Given the description of an element on the screen output the (x, y) to click on. 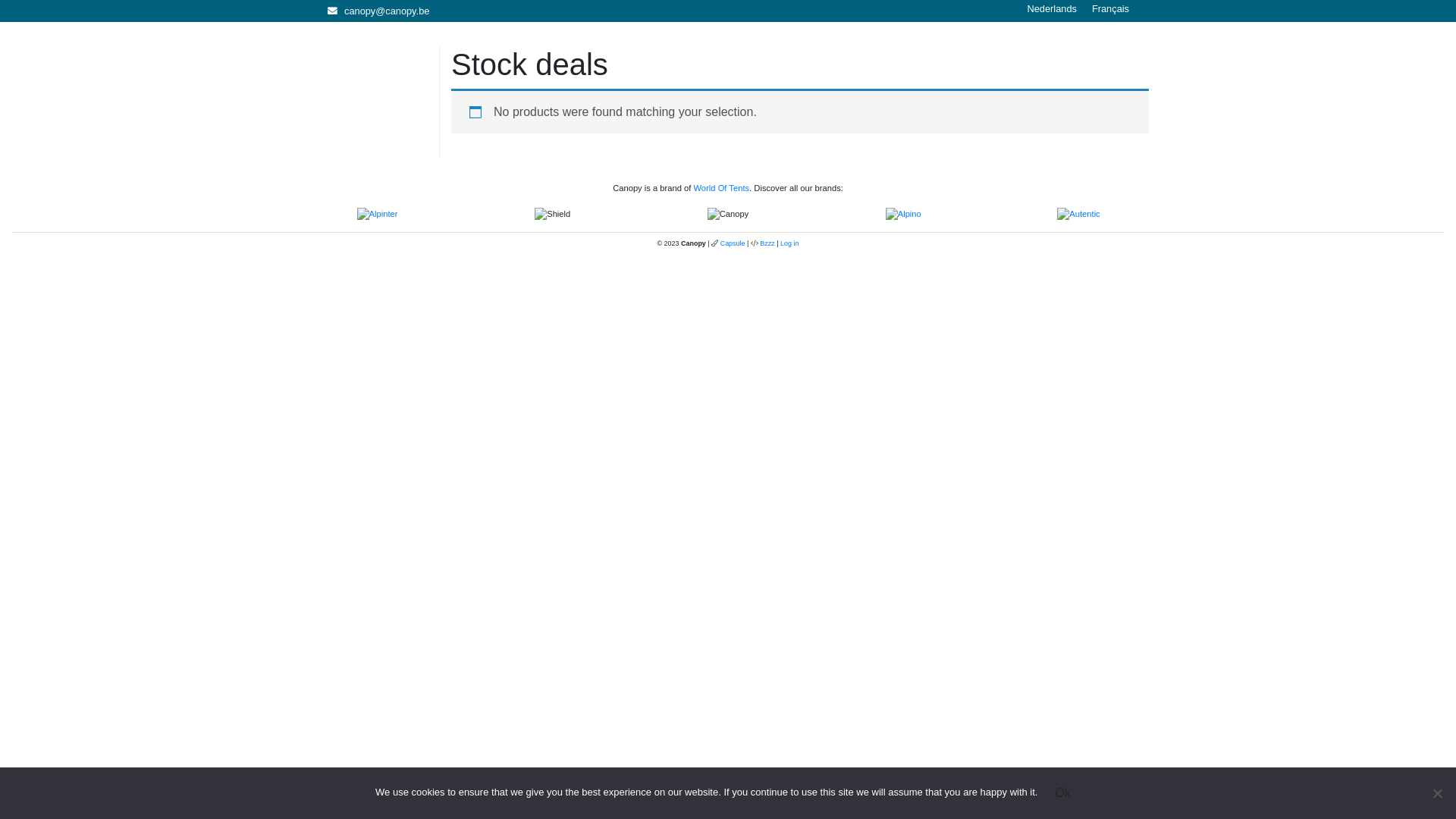
Capsule Element type: text (732, 243)
Log in Element type: text (789, 243)
No Element type: hover (1436, 792)
Nederlands Element type: text (1051, 9)
Ok Element type: text (1061, 792)
Bzzz Element type: text (766, 243)
canopy@canopy.be Element type: text (377, 10)
World Of Tents Element type: text (721, 187)
